Given the description of an element on the screen output the (x, y) to click on. 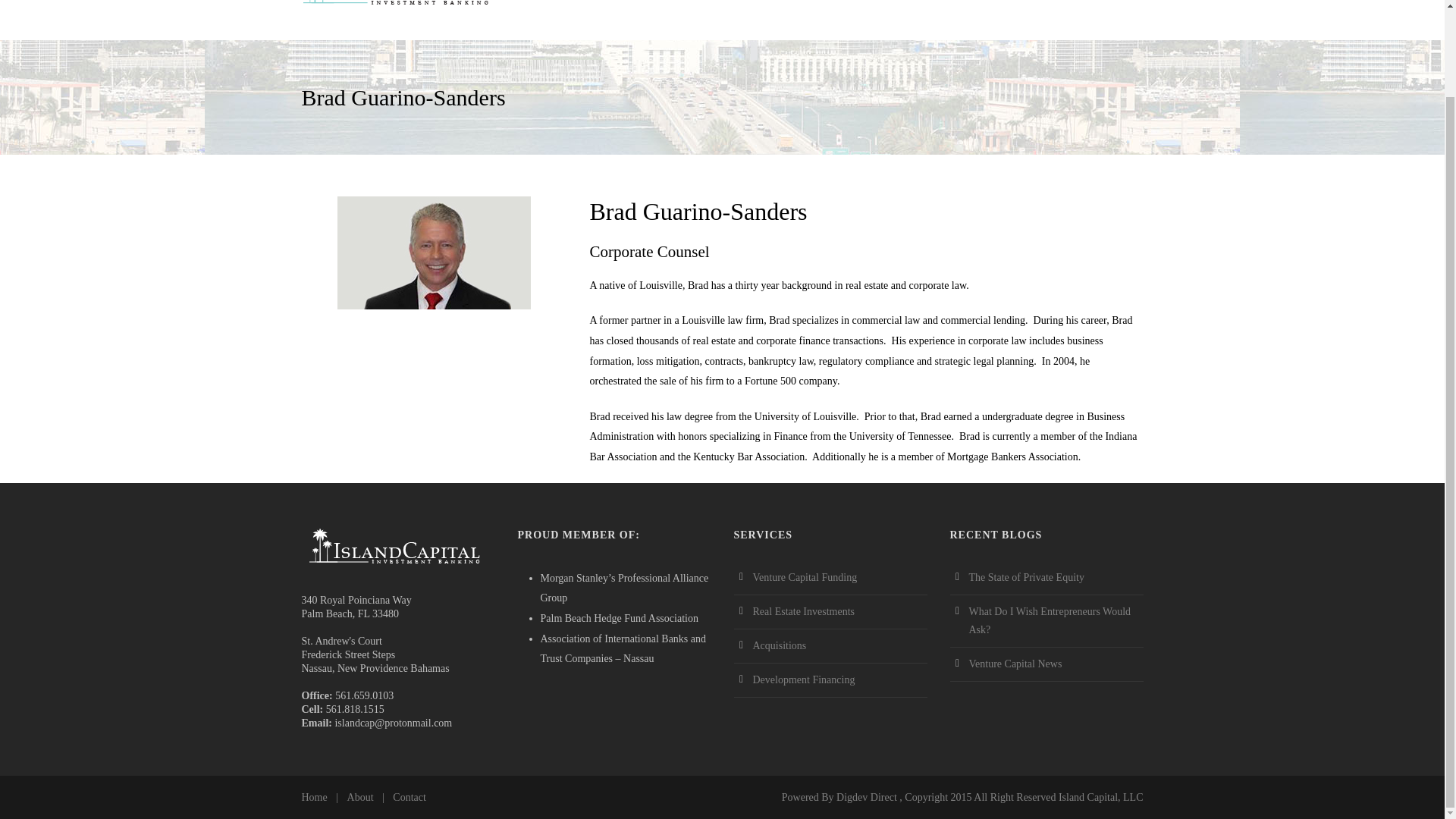
Digdev Direct (865, 797)
Home (314, 797)
Contact (409, 797)
What Do I Wish Entrepreneurs Would Ask? (1050, 620)
Venture Capital News (1015, 663)
About (360, 797)
Venture Capital Funding (804, 577)
ABOUT US (707, 12)
HOME (643, 12)
BLOG (972, 12)
TRANSACTIONS (885, 12)
Acquisitions (779, 645)
CONTACT US (1042, 12)
SERVICES (790, 12)
Real Estate Investments (803, 611)
